Given the description of an element on the screen output the (x, y) to click on. 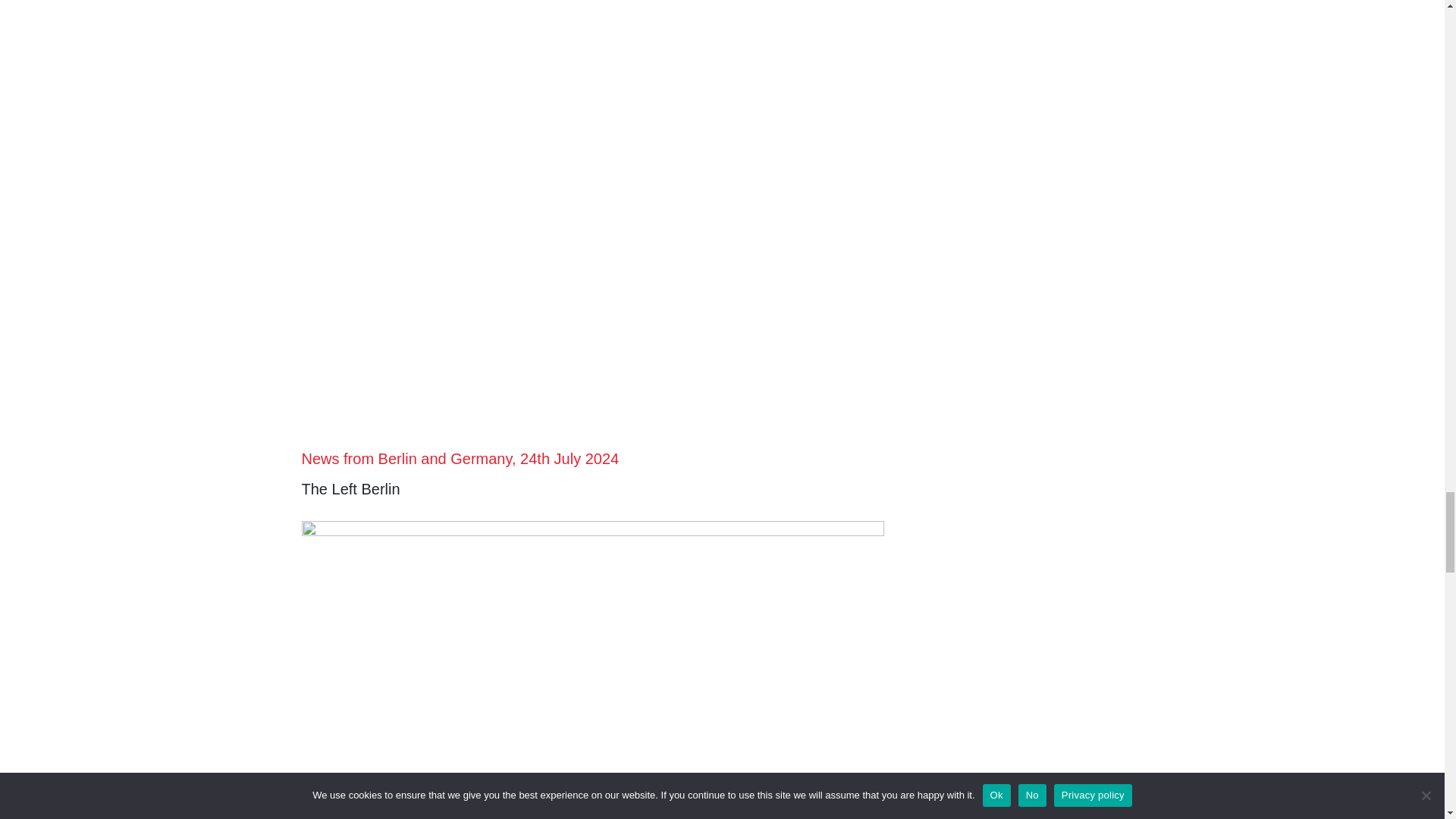
News from Berlin and Germany, 24th July 2024 (460, 458)
News from Berlin and Germany, 24th July 2024 (721, 155)
News from Berlin and Germany, 24th July 2024 (460, 458)
